Given the description of an element on the screen output the (x, y) to click on. 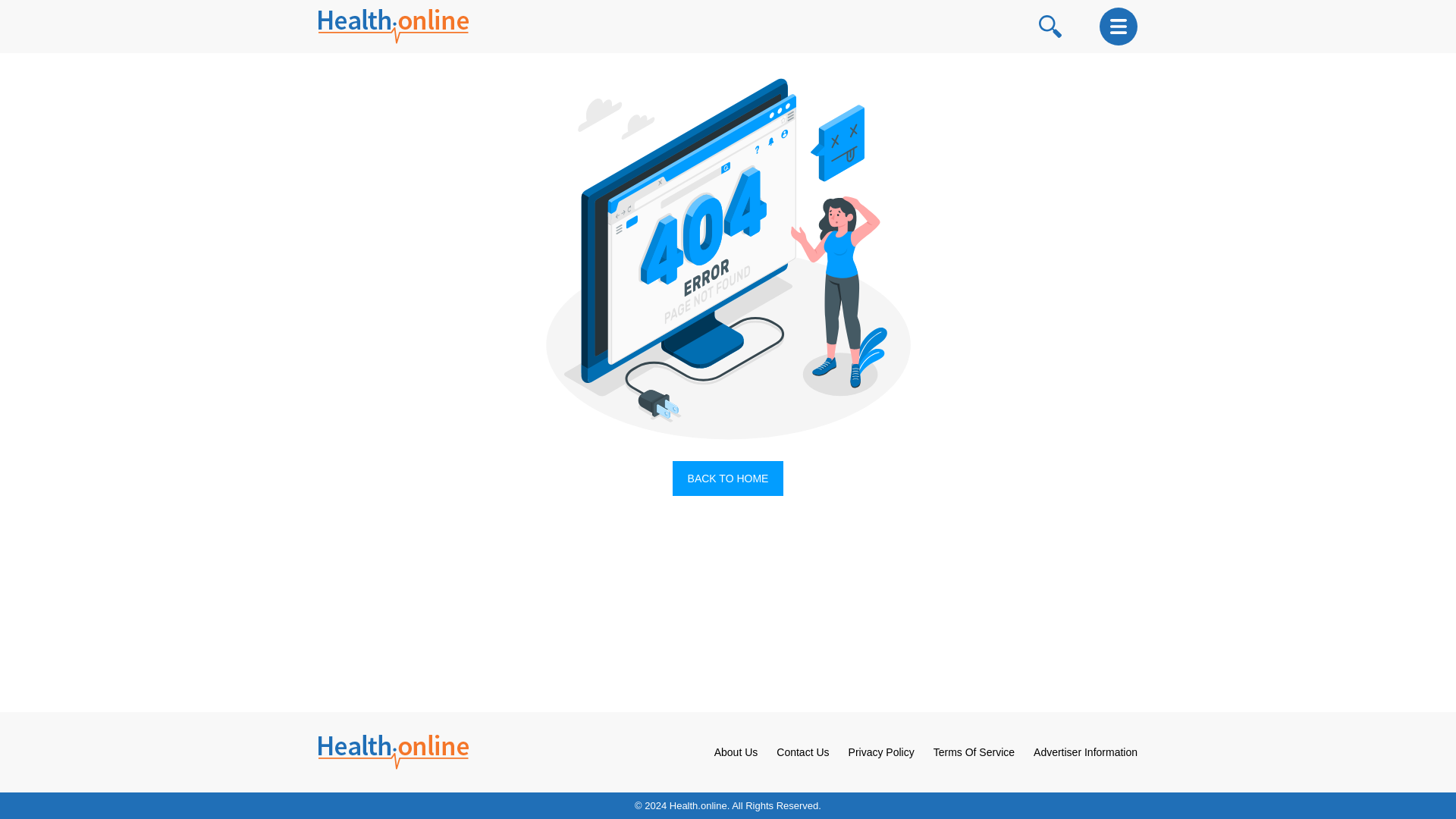
Privacy Policy (881, 752)
Contact Us (802, 752)
About Us (736, 752)
Advertiser Information (1085, 752)
Terms Of Service (973, 752)
BACK TO HOME (728, 478)
